Given the description of an element on the screen output the (x, y) to click on. 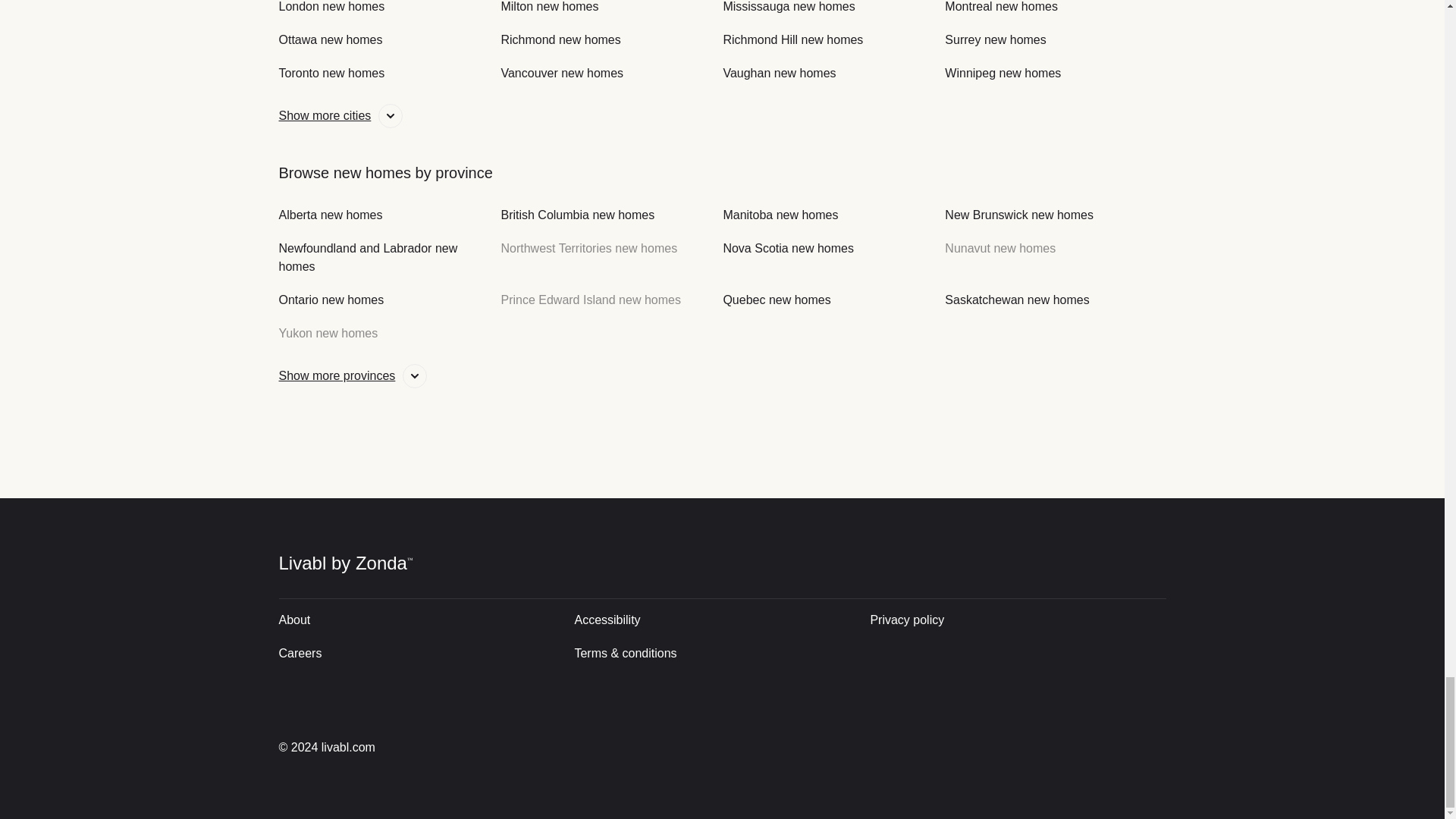
Twitter (991, 747)
Facebook (1098, 747)
Instagram (1045, 747)
Pinterest (1150, 747)
